Given the description of an element on the screen output the (x, y) to click on. 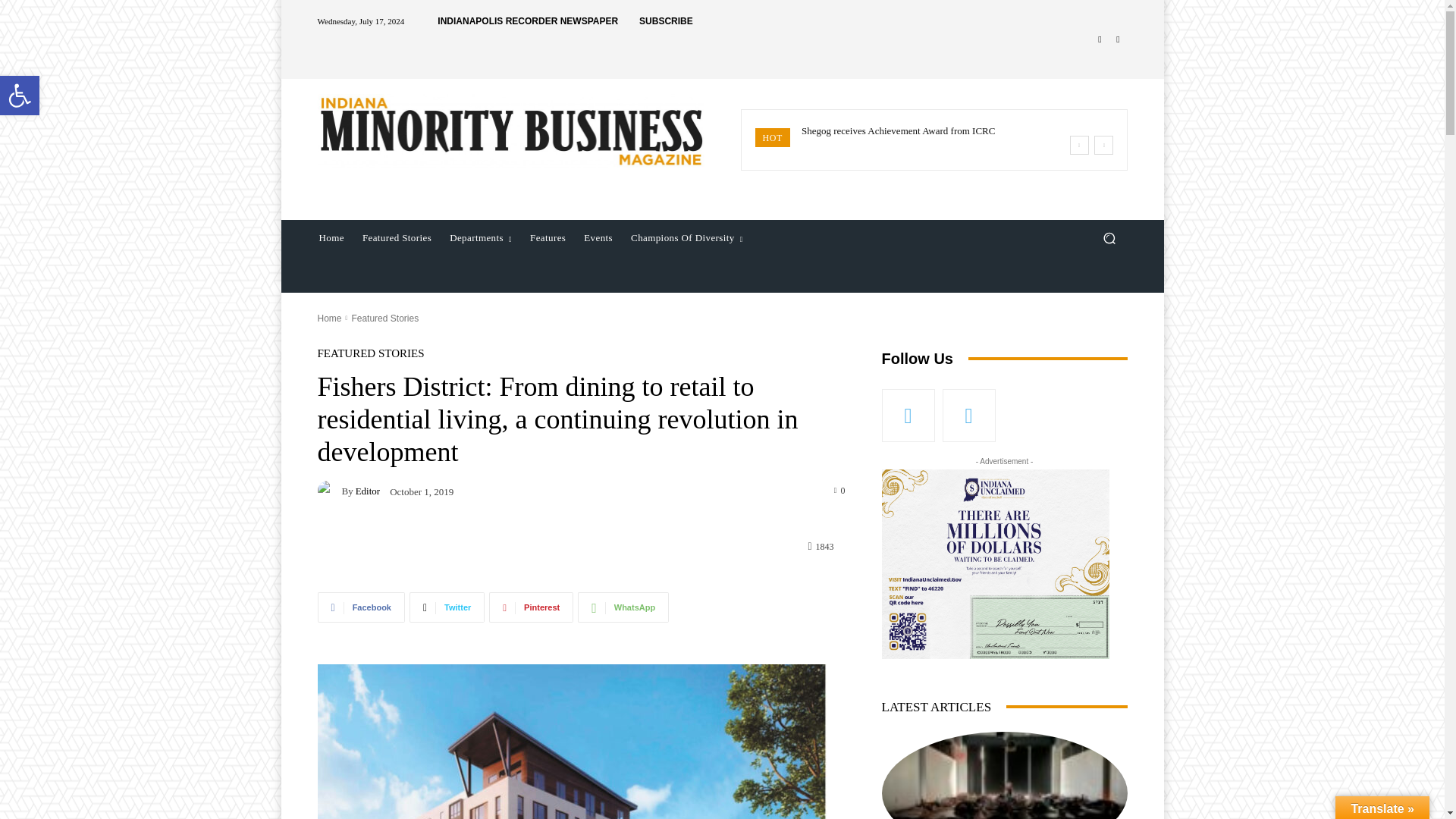
SUBSCRIBE (665, 21)
Accessibility Tools (19, 95)
Accessibility Tools (19, 95)
Twitter (1117, 39)
